Given the description of an element on the screen output the (x, y) to click on. 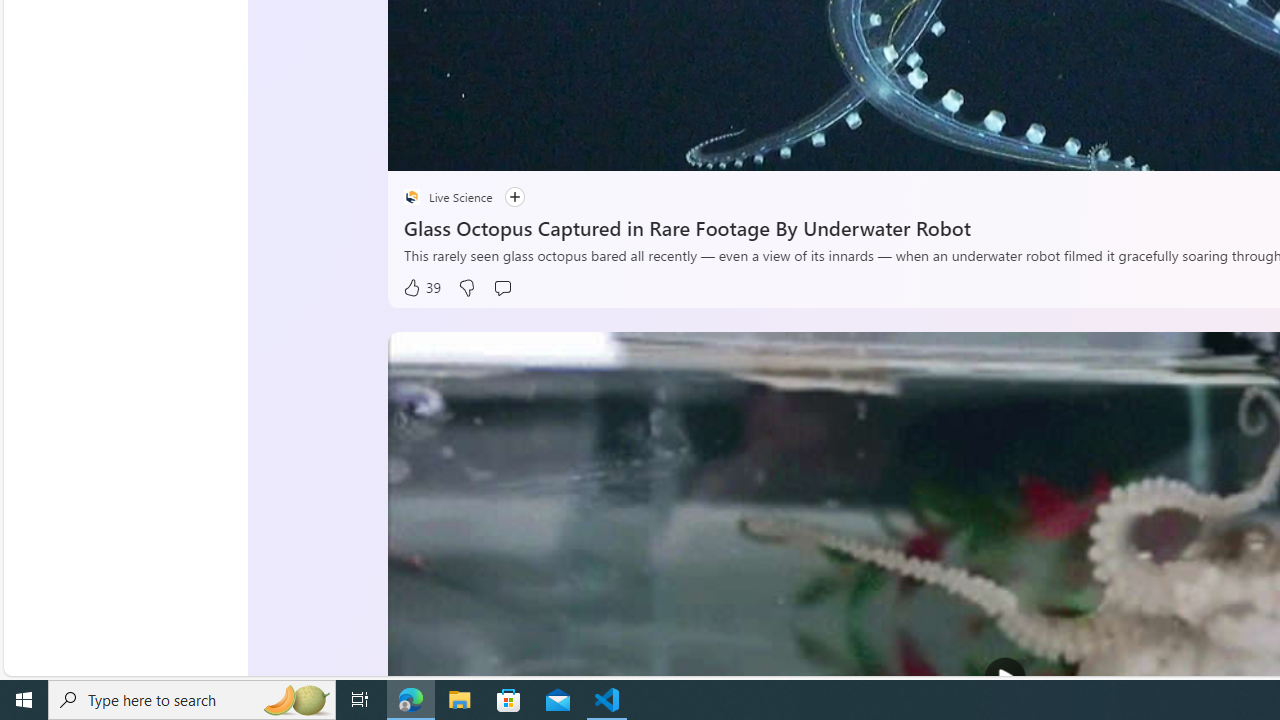
39 Like (422, 288)
Pause (417, 148)
placeholder (411, 196)
Seek Forward (497, 148)
Play Video (1005, 678)
Follow (514, 197)
Seek Back (457, 148)
